Given the description of an element on the screen output the (x, y) to click on. 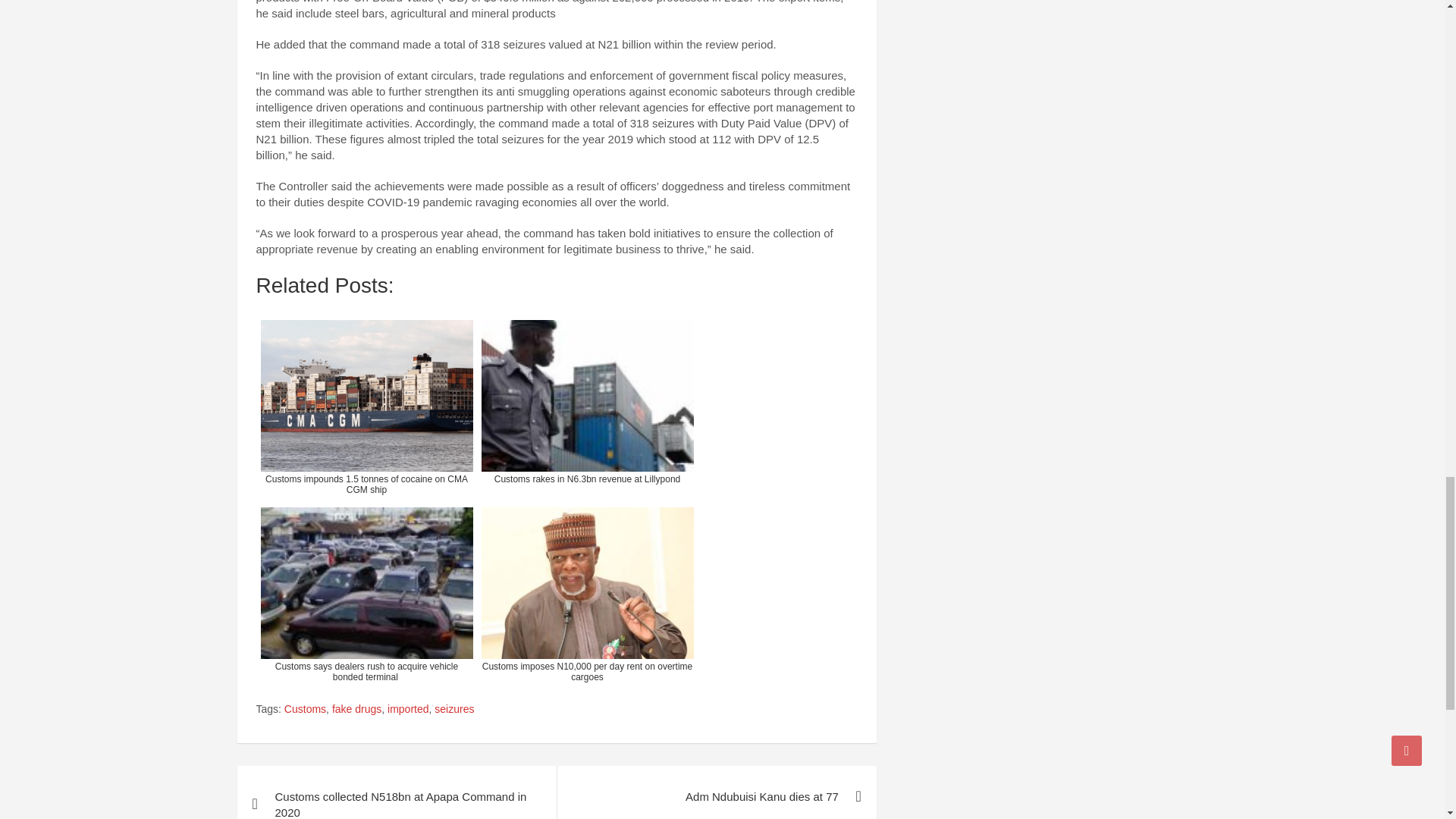
Customs impounds 1.5 tonnes of cocaine on CMA CGM ship (366, 406)
Customs imposes N10,000 per day rent on overtime cargoes (586, 594)
Customs rakes in N6.3bn revenue at Lillypond (586, 406)
